Given the description of an element on the screen output the (x, y) to click on. 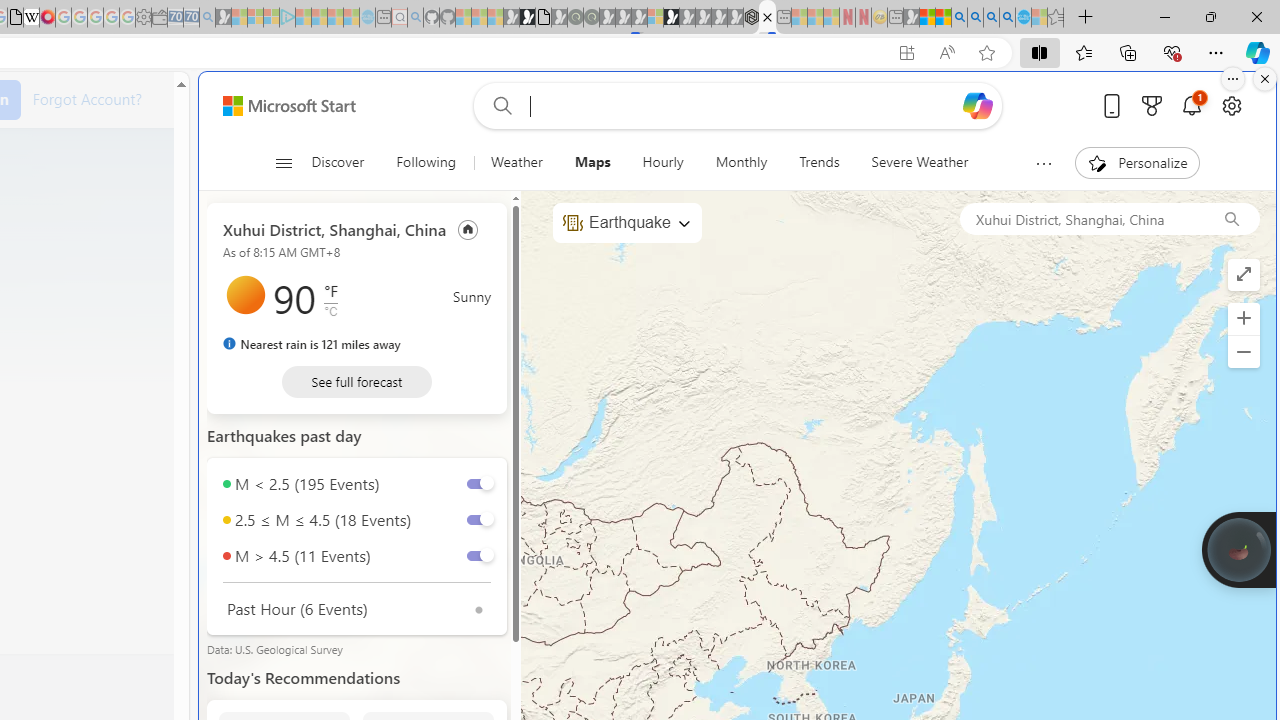
Open settings (1231, 105)
Microsoft Start Gaming - Sleeping (223, 17)
Nordace - Cooler Bags (751, 17)
Sign in to your account - Sleeping (655, 17)
Favorites (1083, 52)
Severe Weather (919, 162)
Web search (498, 105)
Severe Weather (920, 162)
